Given the description of an element on the screen output the (x, y) to click on. 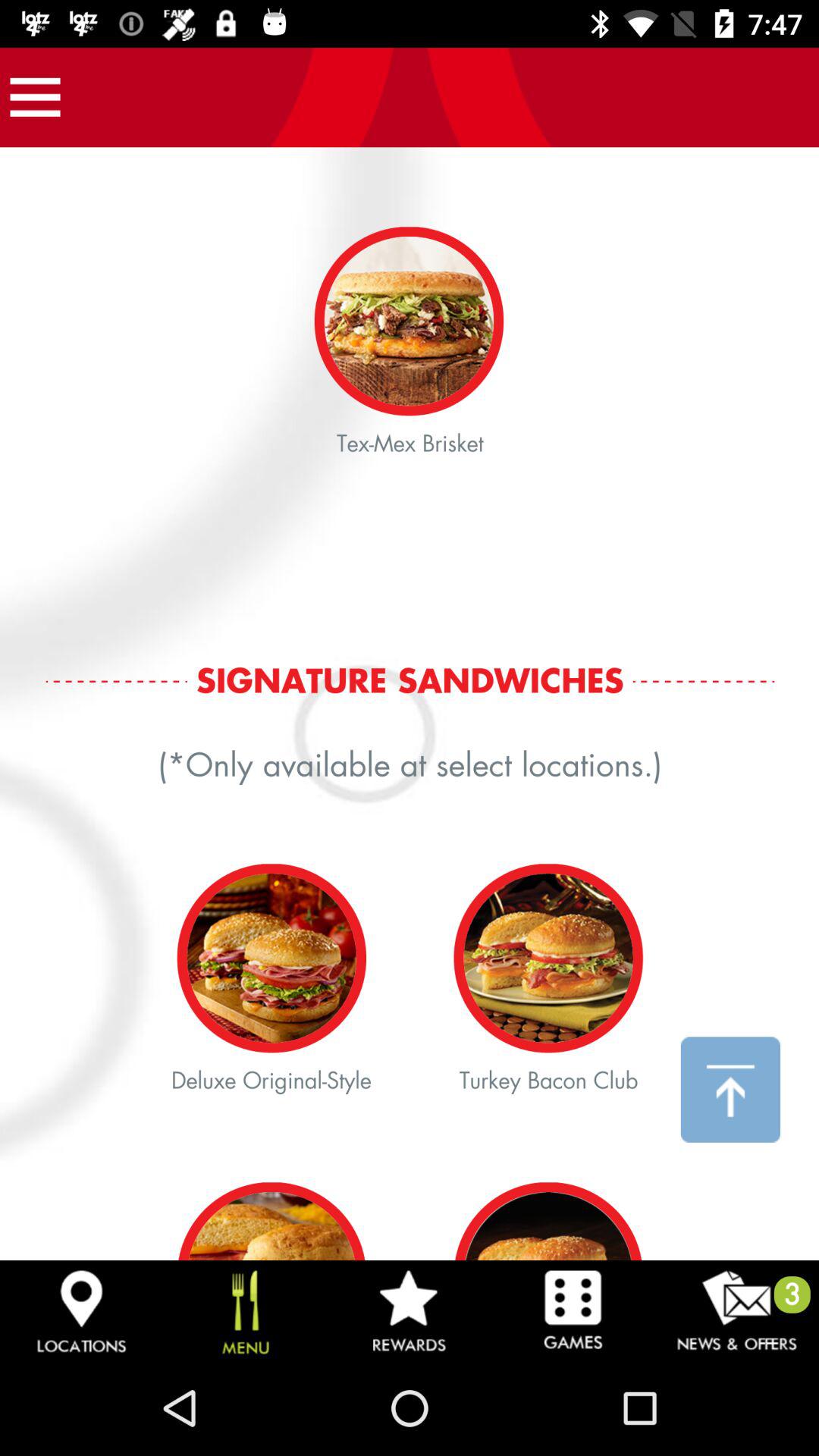
menu icon (35, 97)
